Given the description of an element on the screen output the (x, y) to click on. 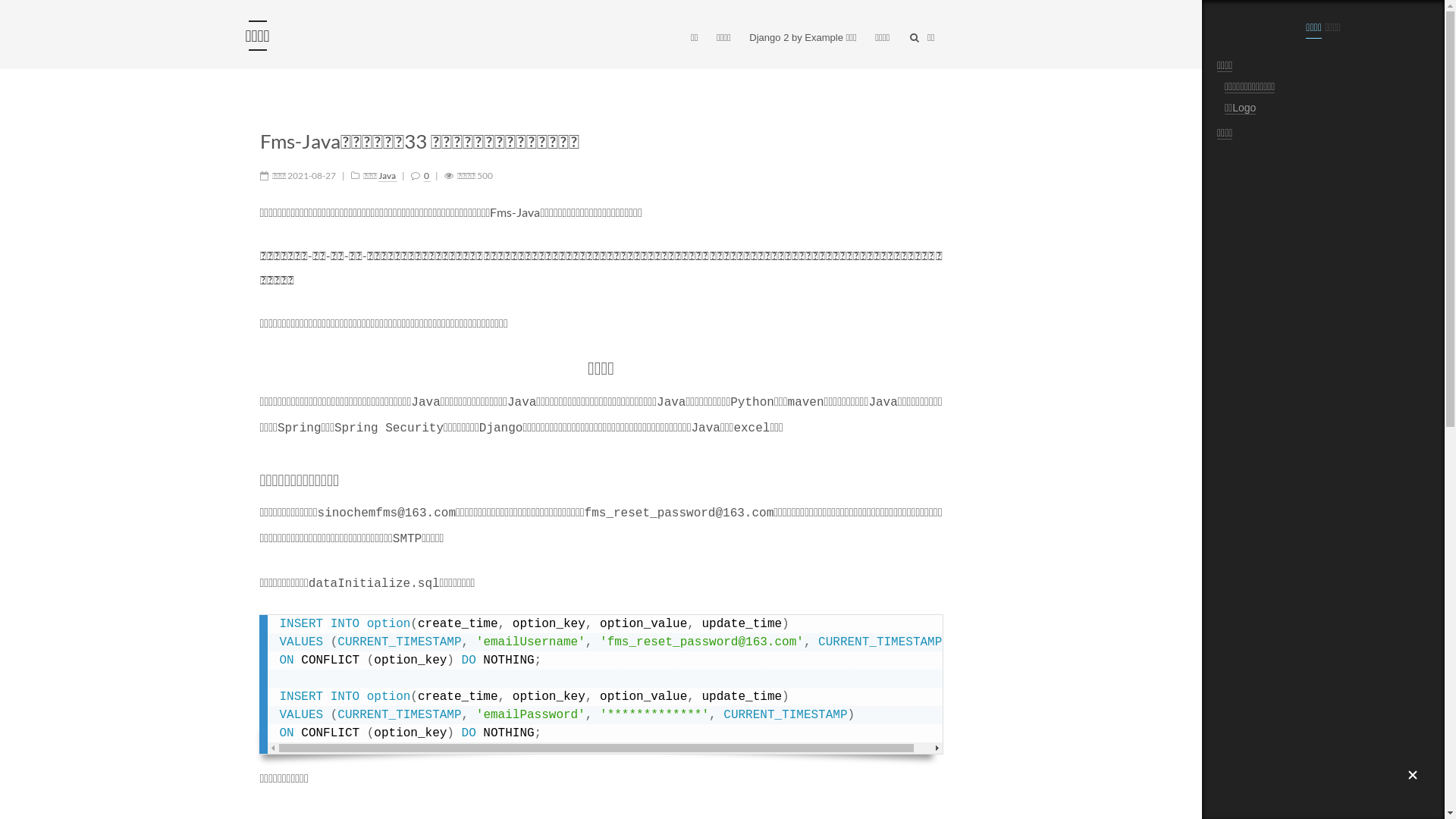
0 Element type: text (426, 175)
Java Element type: text (386, 175)
